Given the description of an element on the screen output the (x, y) to click on. 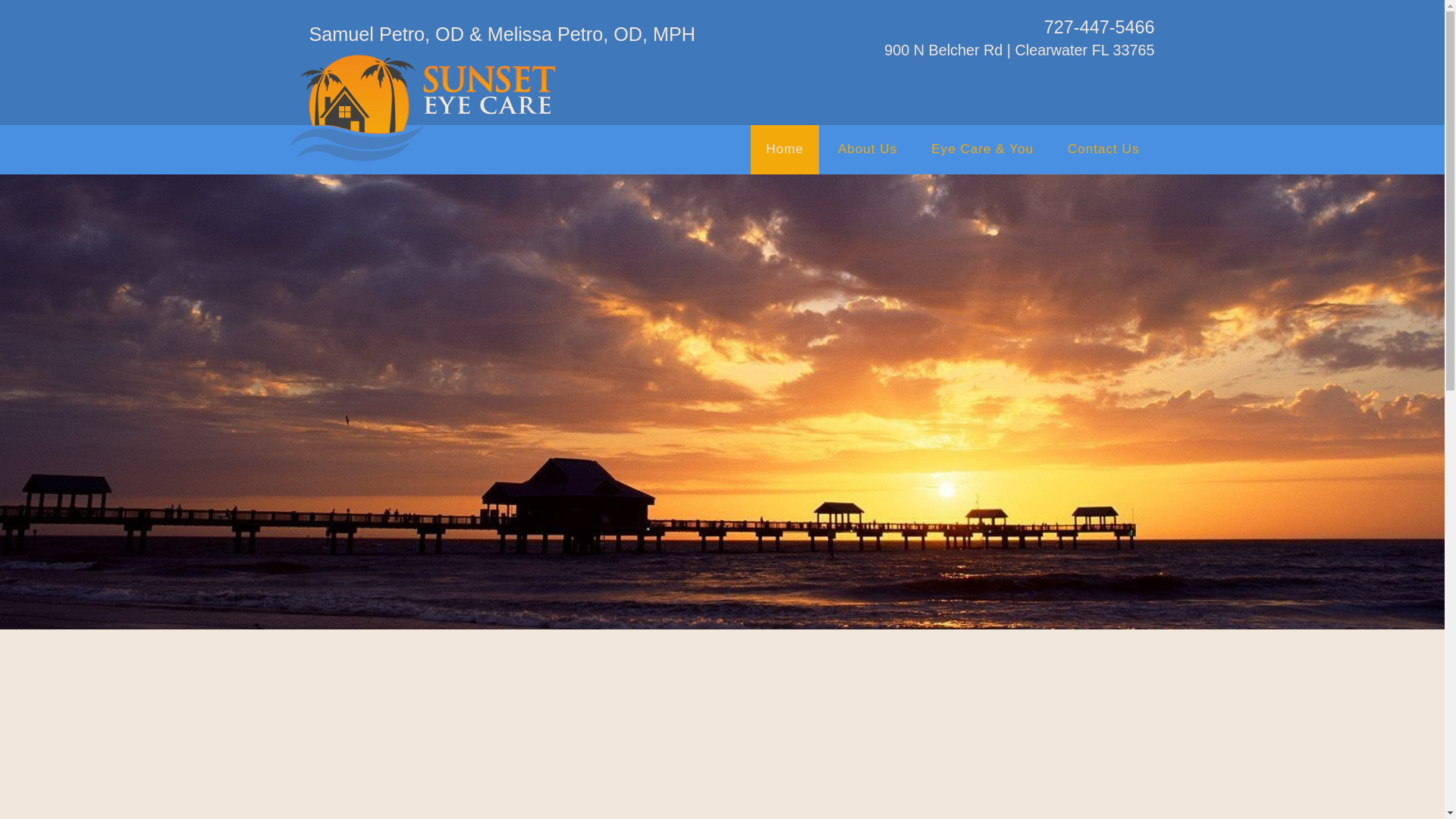
Skip to content (52, 21)
Home (784, 149)
Facebook (1113, 75)
Skip to footer navigation (80, 21)
Instagram (1141, 75)
Skip to primary sidebar (77, 21)
SUNSET EYE CARE (421, 110)
About Us (867, 149)
Skip to primary navigation (85, 21)
Skip to footer widgets (72, 21)
